Given the description of an element on the screen output the (x, y) to click on. 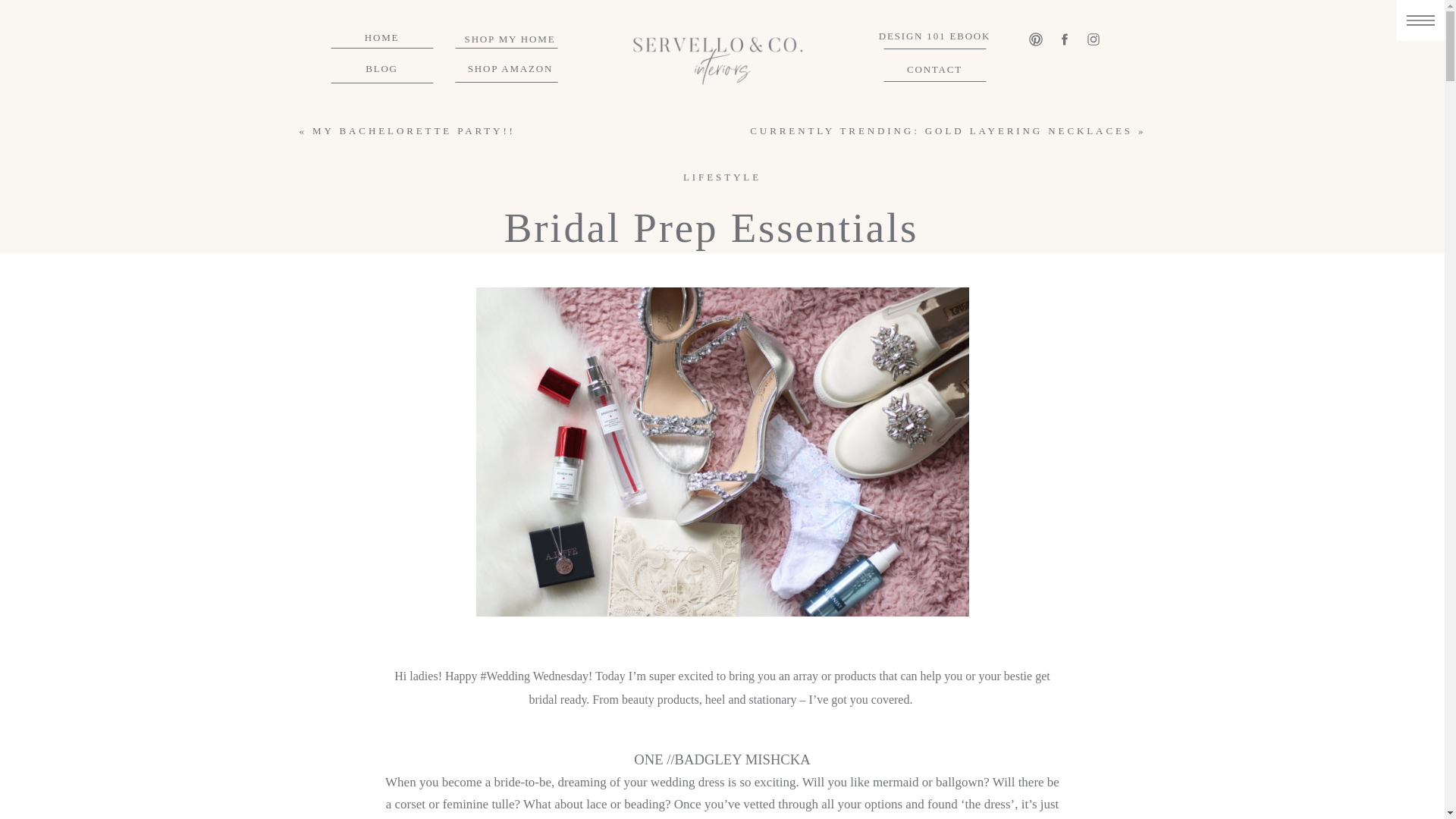
SHOP MY HOME (509, 41)
LIFESTYLE (721, 176)
HOME (381, 39)
CURRENTLY TRENDING: GOLD LAYERING NECKLACES (940, 130)
CONTACT (934, 71)
BLOG (381, 71)
MY BACHELORETTE PARTY!! (414, 130)
SHOP AMAZON (510, 71)
DESIGN 101 EBOOK (934, 38)
